Given the description of an element on the screen output the (x, y) to click on. 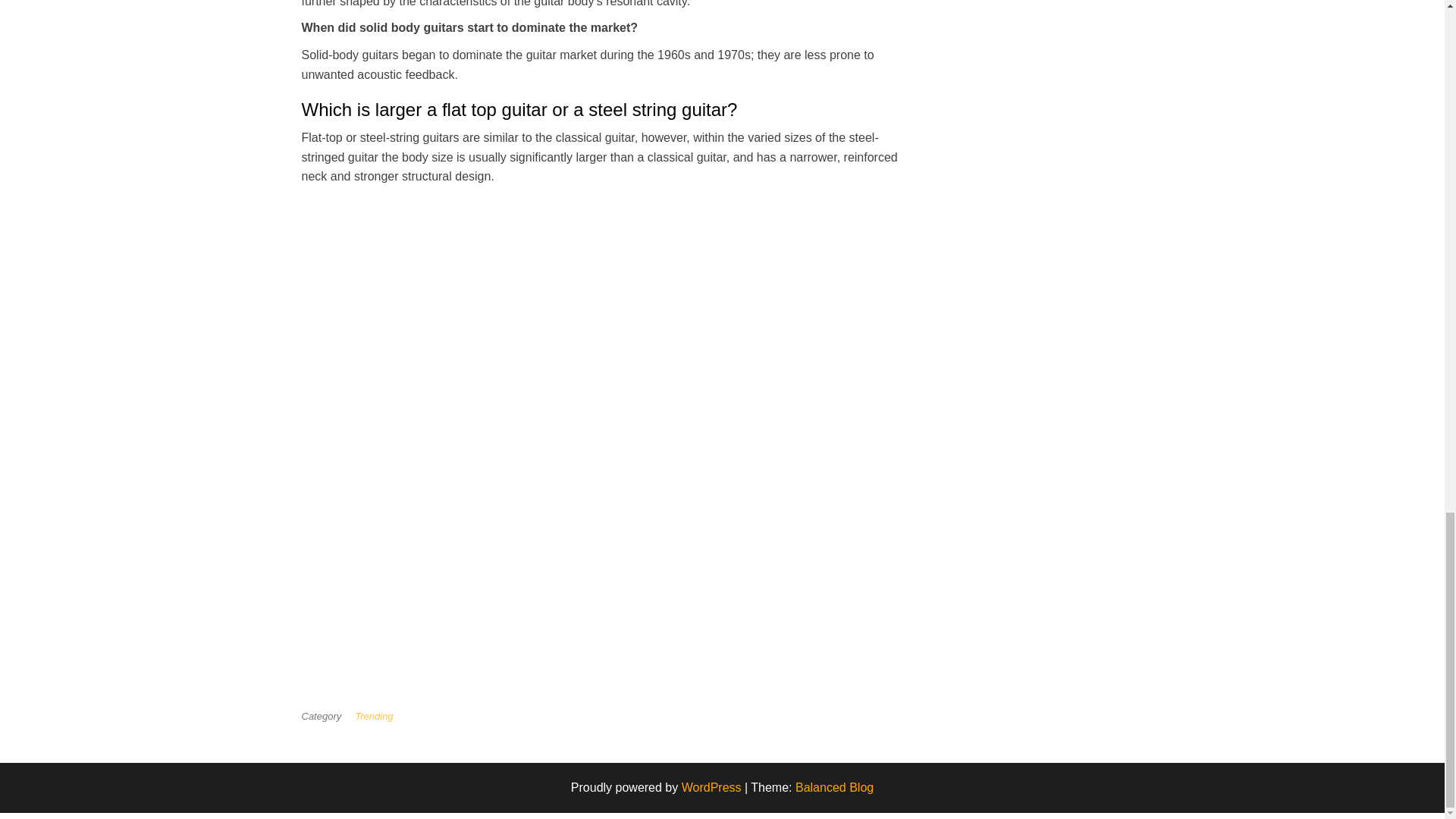
Trending (376, 715)
WordPress (711, 787)
Balanced Blog (833, 787)
